Given the description of an element on the screen output the (x, y) to click on. 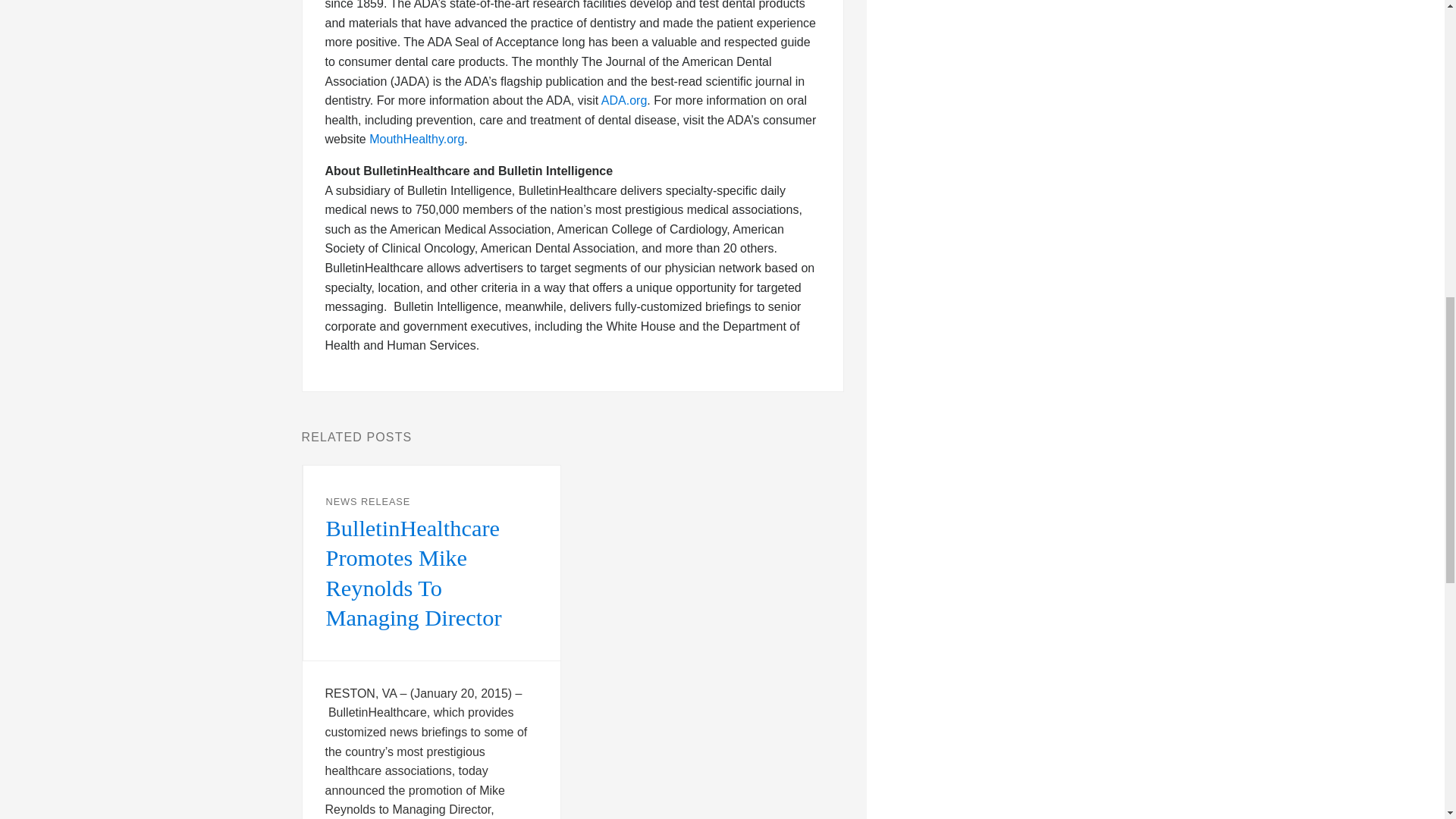
ADA.org (623, 100)
MouthHealthy.org (416, 138)
NEWS RELEASE (368, 501)
